Given the description of an element on the screen output the (x, y) to click on. 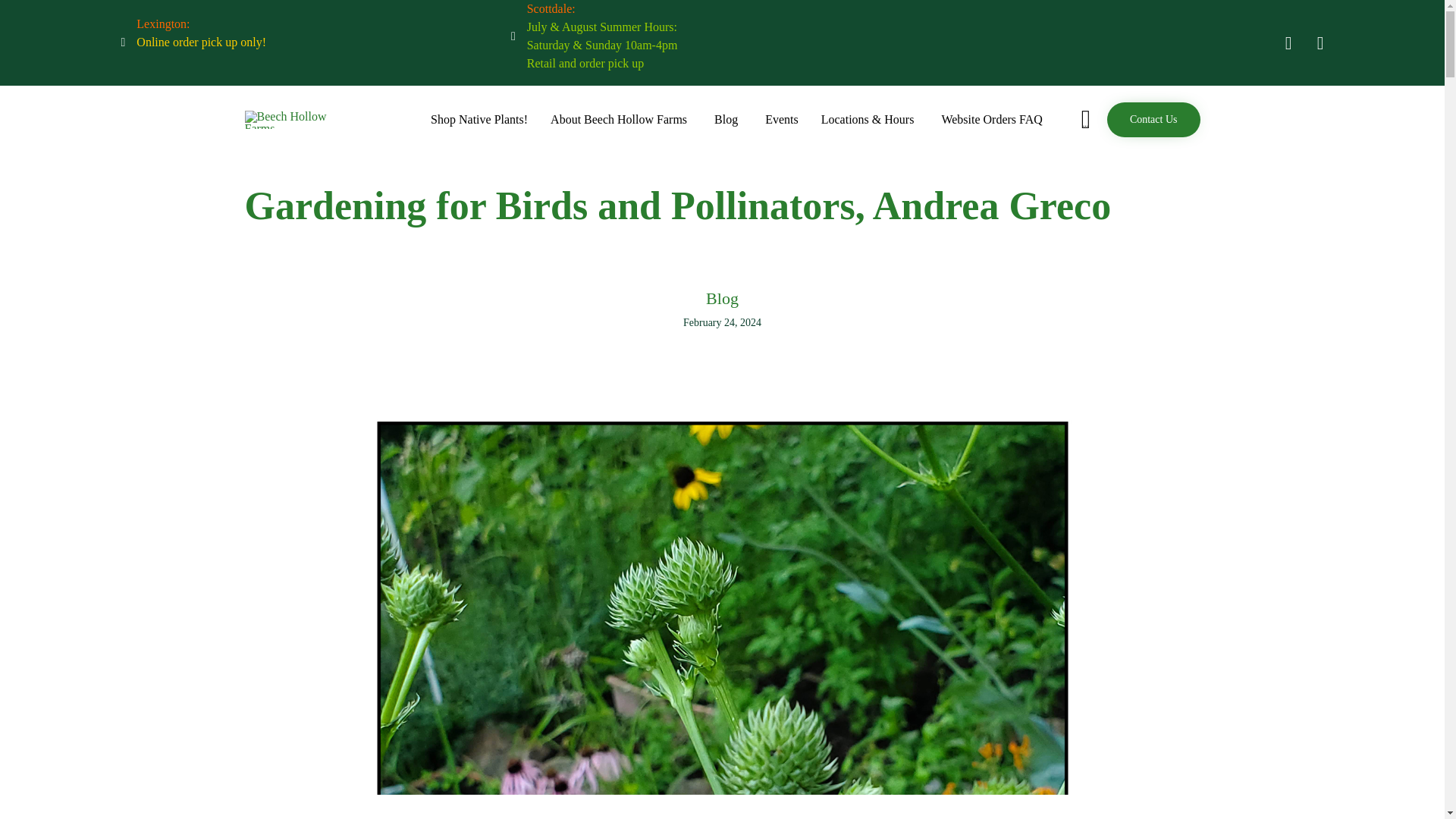
Events (781, 119)
Contact Us (1152, 119)
Beech Hollow Farms (287, 119)
Blog (728, 119)
About Beech Hollow Farms (620, 119)
Shop Native Plants! (478, 119)
Blog (722, 299)
Website Orders FAQ (992, 119)
